Given the description of an element on the screen output the (x, y) to click on. 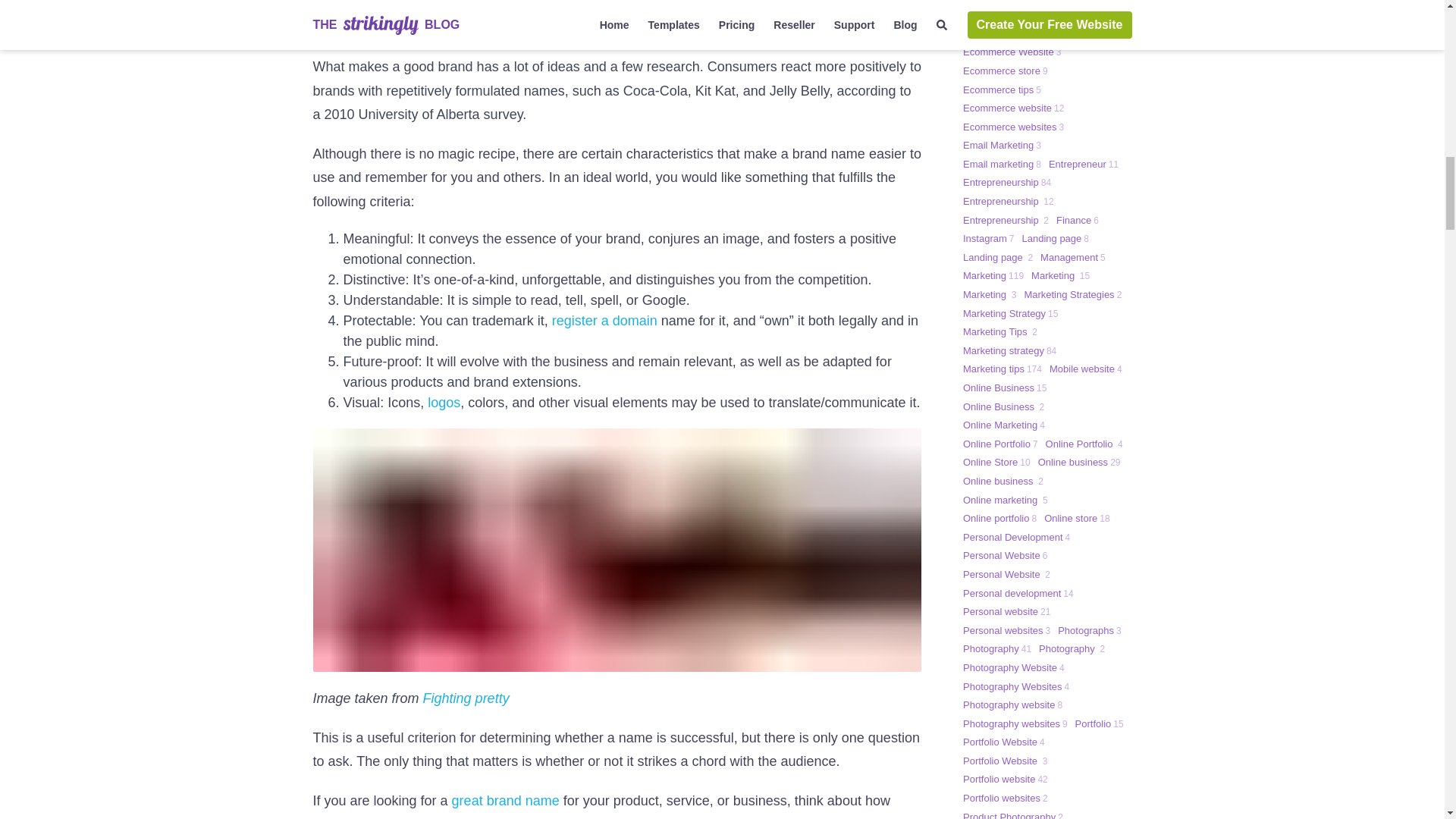
Fighting pretty (466, 698)
logos (444, 402)
great brand name (505, 800)
register a domain (604, 320)
